Given the description of an element on the screen output the (x, y) to click on. 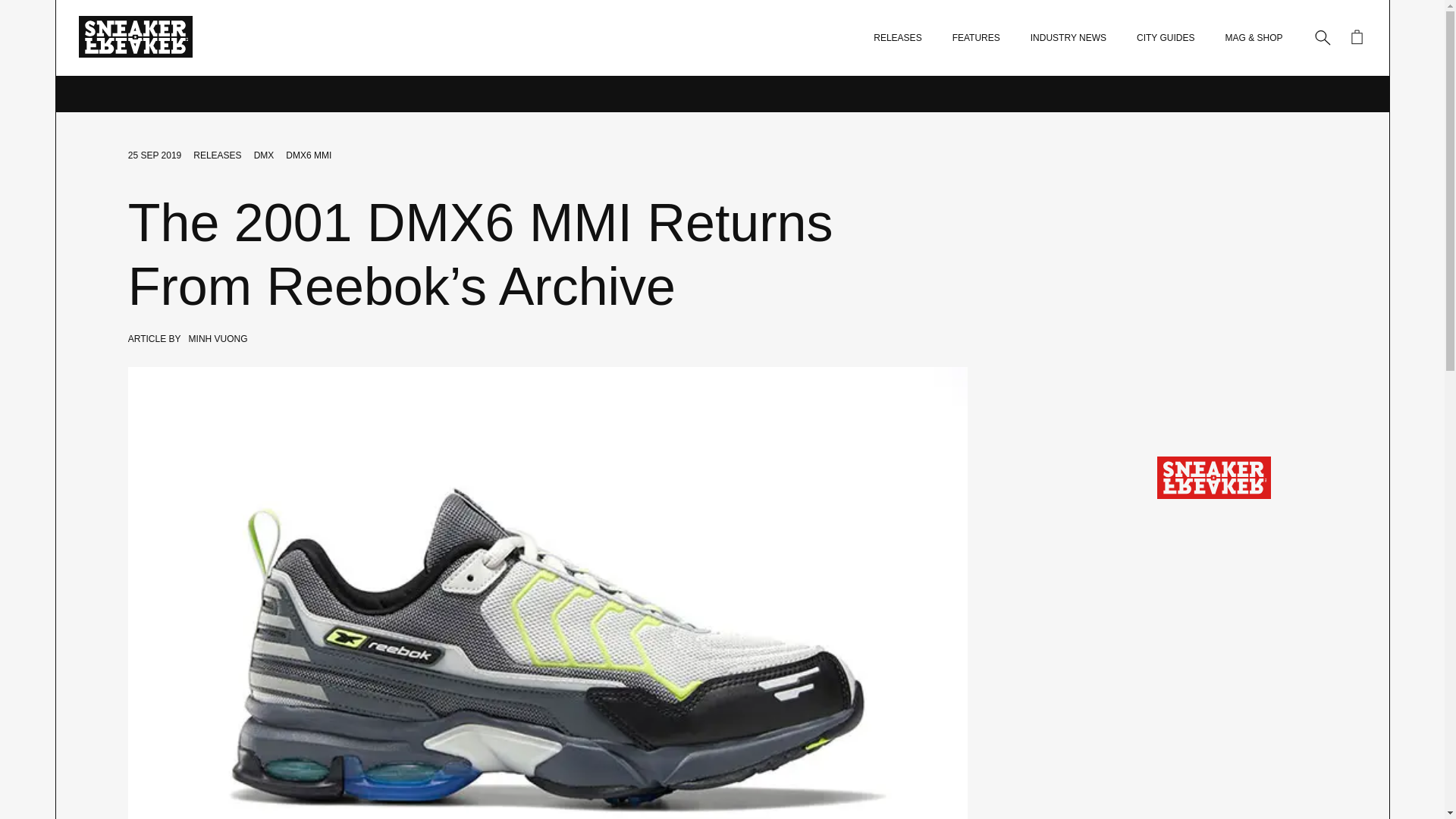
CITY GUIDES (1165, 37)
RELEASES (217, 154)
FEATURES (976, 37)
DMX (264, 154)
INDUSTRY NEWS (1068, 37)
DMX6 MMI (308, 154)
MINH VUONG (218, 338)
RELEASES (897, 37)
